Given the description of an element on the screen output the (x, y) to click on. 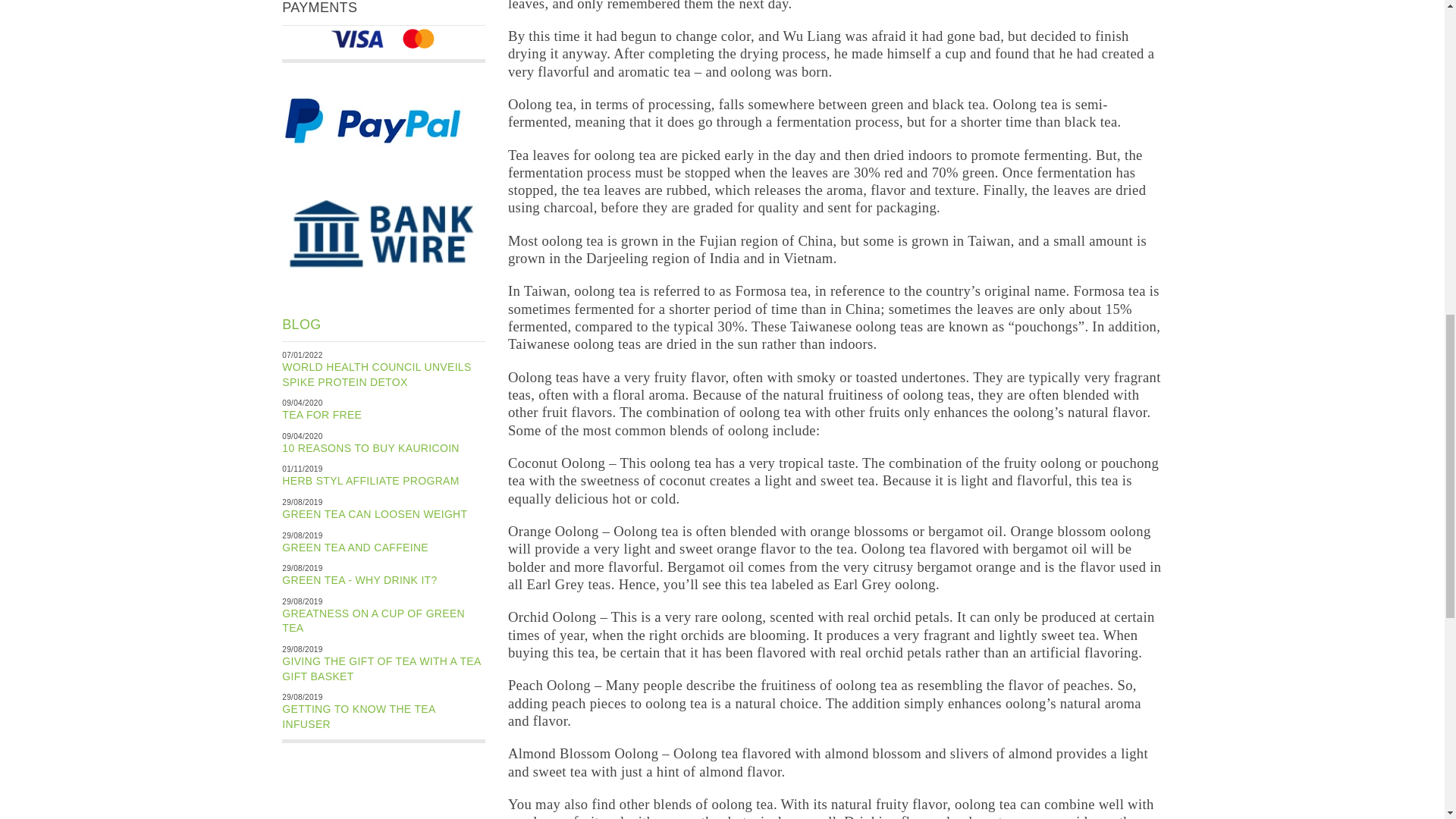
Tea for free (321, 414)
GREEN TEA - WHY DRINK IT? (359, 580)
Green Tea - Why Drink It? (359, 580)
Green Tea and Caffeine (355, 547)
10 REASONS TO BUY KAURICOIN (371, 448)
TEA FOR FREE (321, 414)
10 reasons to buy Kauricoin (371, 448)
GREEN TEA AND CAFFEINE (355, 547)
GIVING THE GIFT OF TEA WITH A TEA GIFT BASKET (381, 668)
WORLD HEALTH COUNCIL UNVEILS SPIKE PROTEIN DETOX (376, 374)
Herb Styl affiliate program (370, 480)
Giving The Gift Of Tea With A Tea Gift Basket (381, 668)
BLOG (301, 324)
World Health Council Unveils Spike Protein Detox (376, 374)
GREATNESS ON A CUP OF GREEN TEA (373, 620)
